Given the description of an element on the screen output the (x, y) to click on. 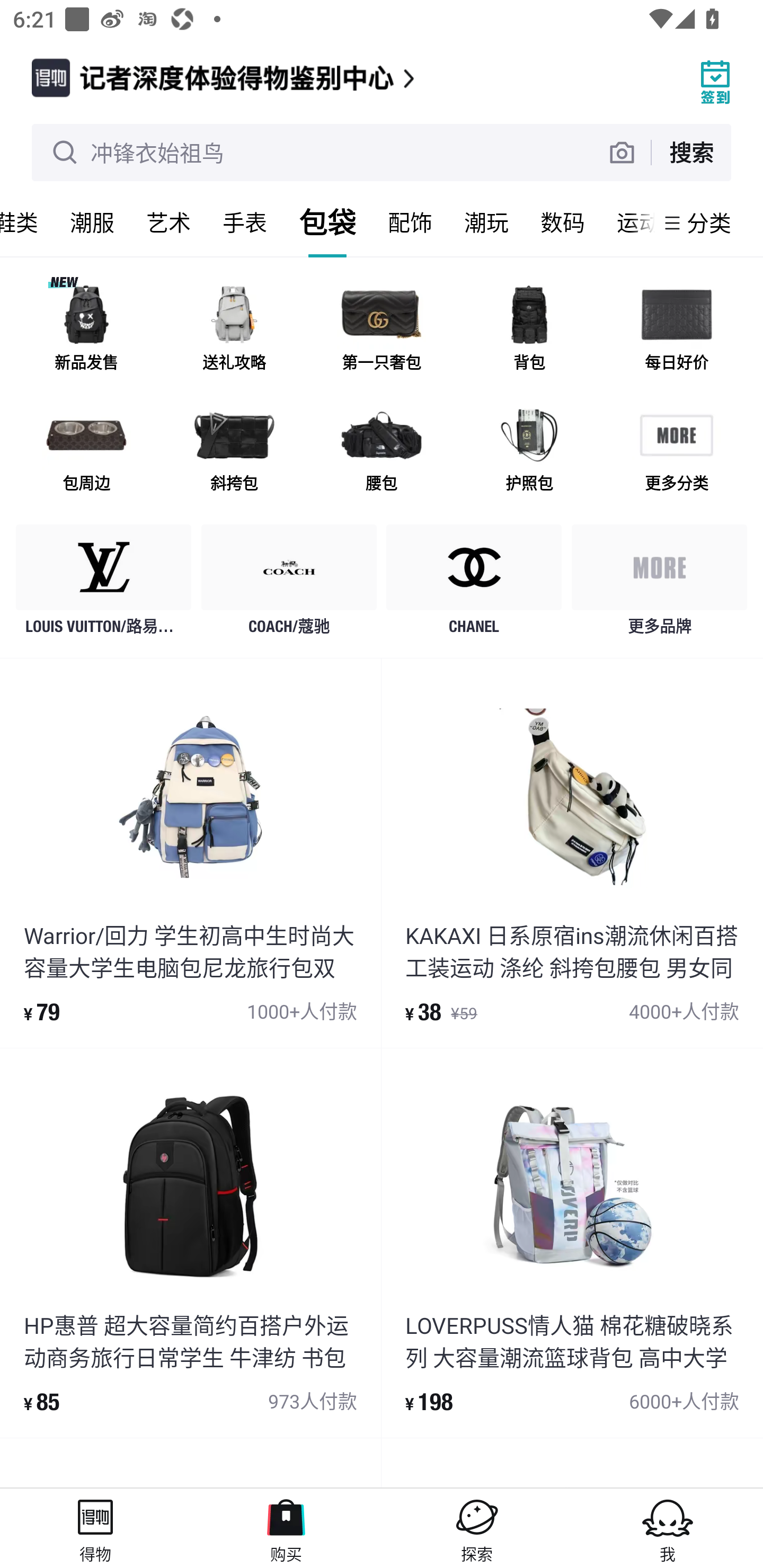
冲锋衣始祖鸟 搜索 (381, 152)
搜索 (690, 152)
鞋类 (27, 222)
潮服 (92, 222)
艺术 (168, 222)
手表 (244, 222)
包袋 (327, 222)
配饰 (410, 222)
潮玩 (486, 222)
数码 (562, 222)
运动 (627, 222)
分类 (708, 222)
新品发售 (86, 329)
送礼攻略 (233, 329)
第一只奢包 (381, 329)
背包 (528, 329)
每日好价 (676, 329)
包周边 (86, 450)
斜挎包 (233, 450)
腰包 (381, 450)
护照包 (528, 450)
更多分类 (676, 450)
LOUIS VUITTON/路易威登 (103, 583)
COACH/蔻驰 (288, 583)
CHANEL (473, 583)
更多品牌 (658, 583)
得物 (95, 1528)
购买 (285, 1528)
探索 (476, 1528)
我 (667, 1528)
